Given the description of an element on the screen output the (x, y) to click on. 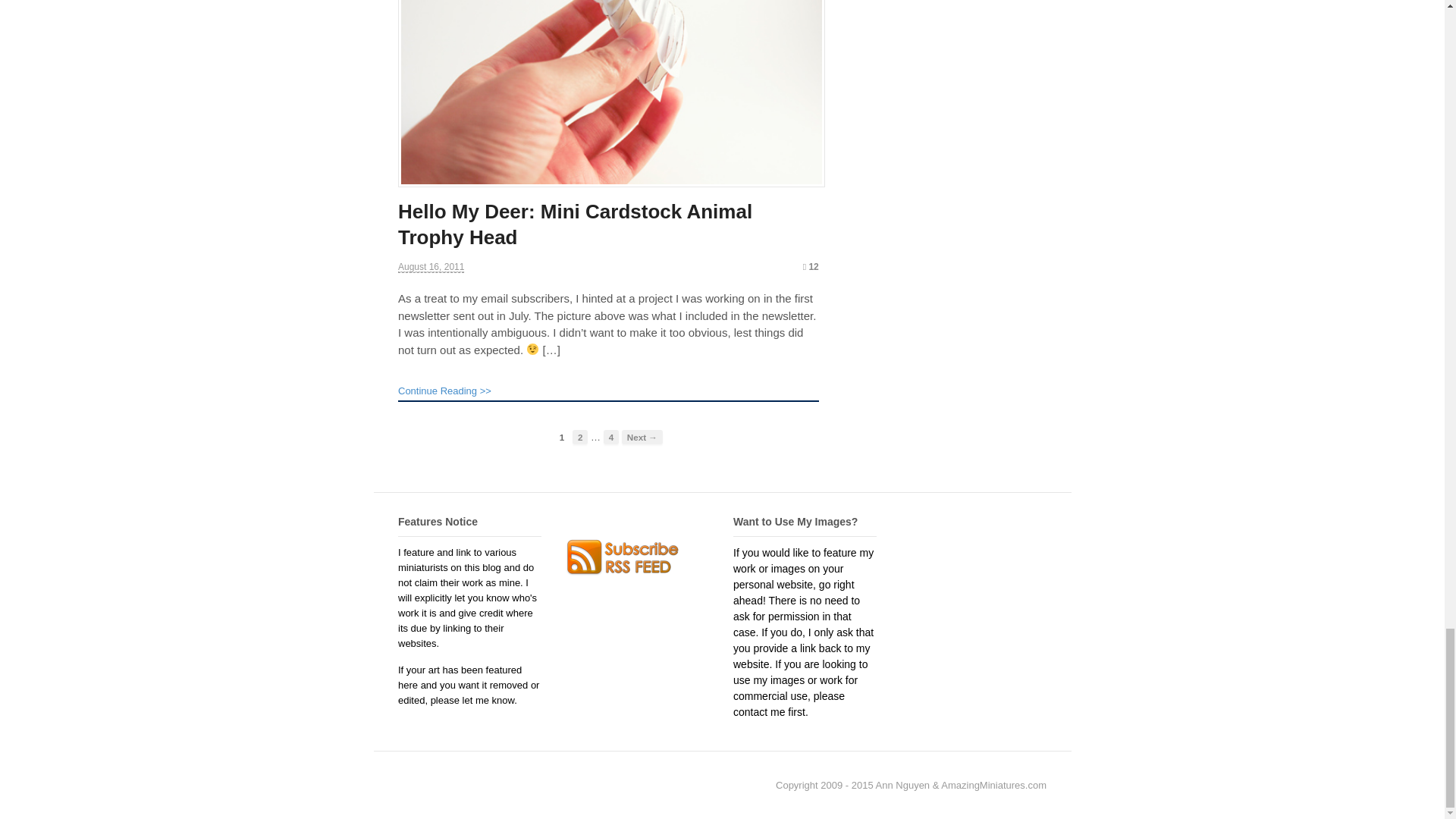
2 (580, 436)
12 (810, 266)
Hello My Deer: Mini Cardstock Animal Trophy Head (574, 223)
4 (612, 436)
